Given the description of an element on the screen output the (x, y) to click on. 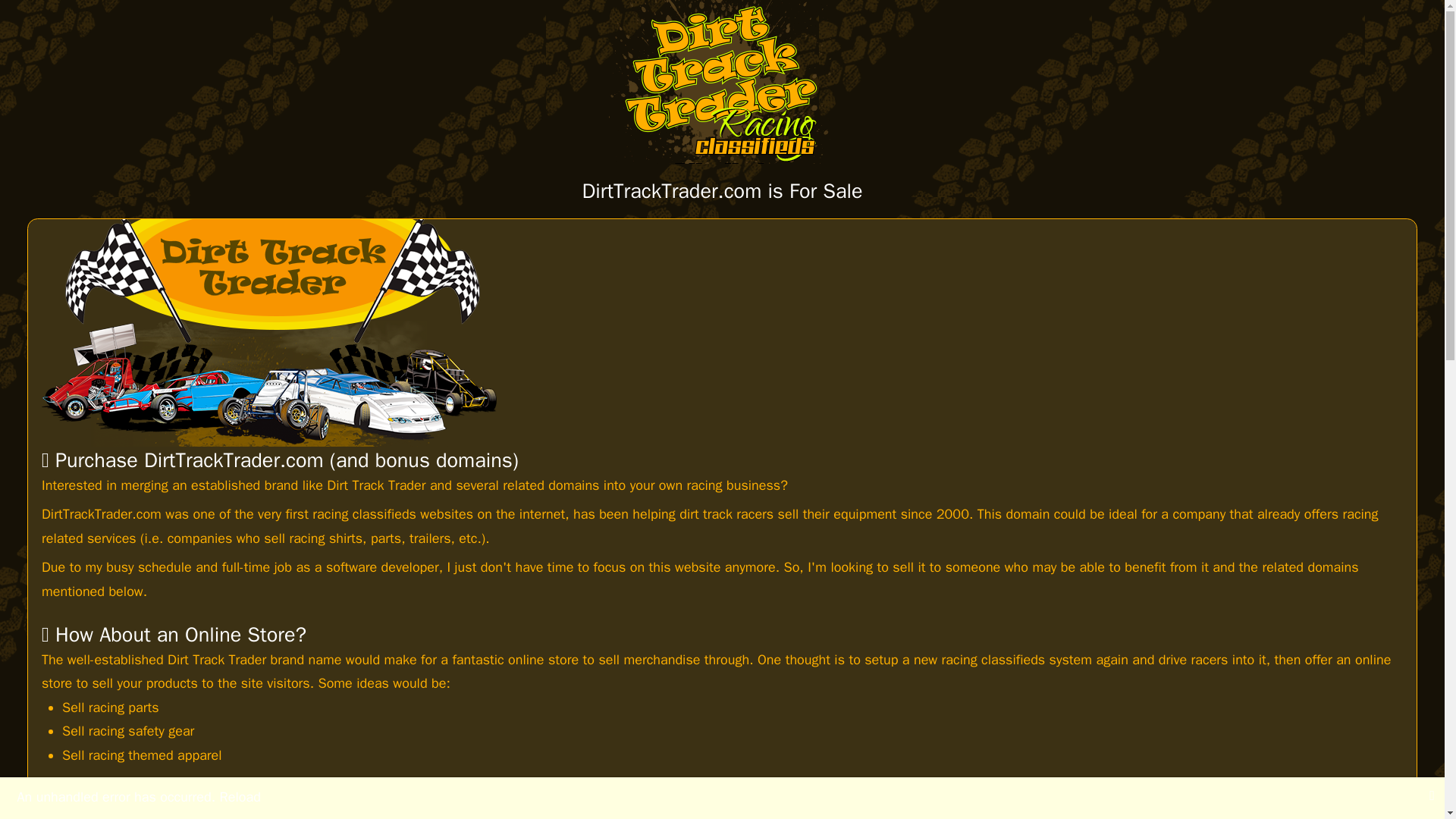
Reload (239, 796)
Dirt Track Trader Racing Classifieds (721, 81)
